Given the description of an element on the screen output the (x, y) to click on. 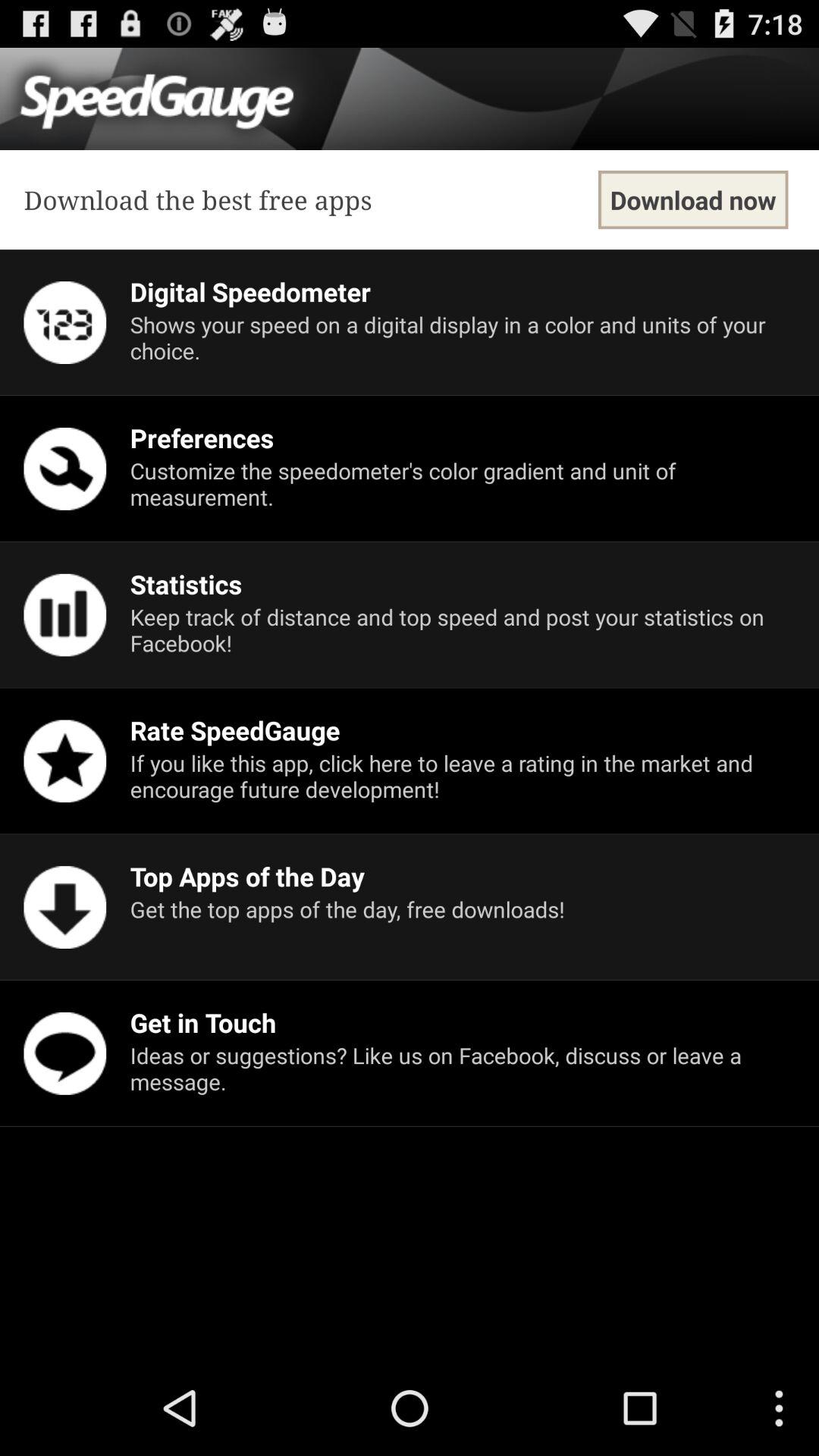
launch app above the digital speedometer item (693, 199)
